Given the description of an element on the screen output the (x, y) to click on. 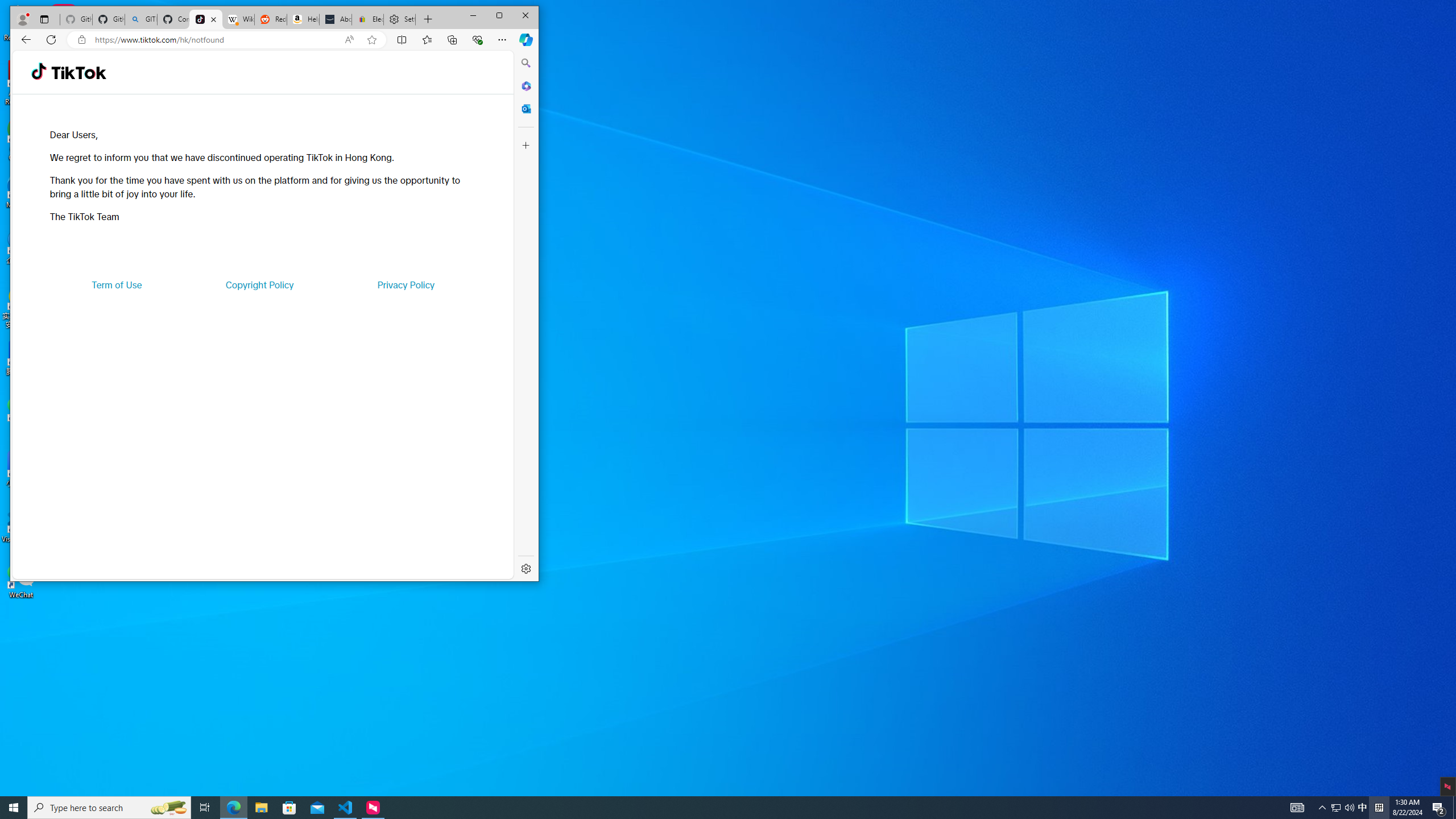
Tray Input Indicator - Chinese (Simplified, China) (1378, 807)
